Given the description of an element on the screen output the (x, y) to click on. 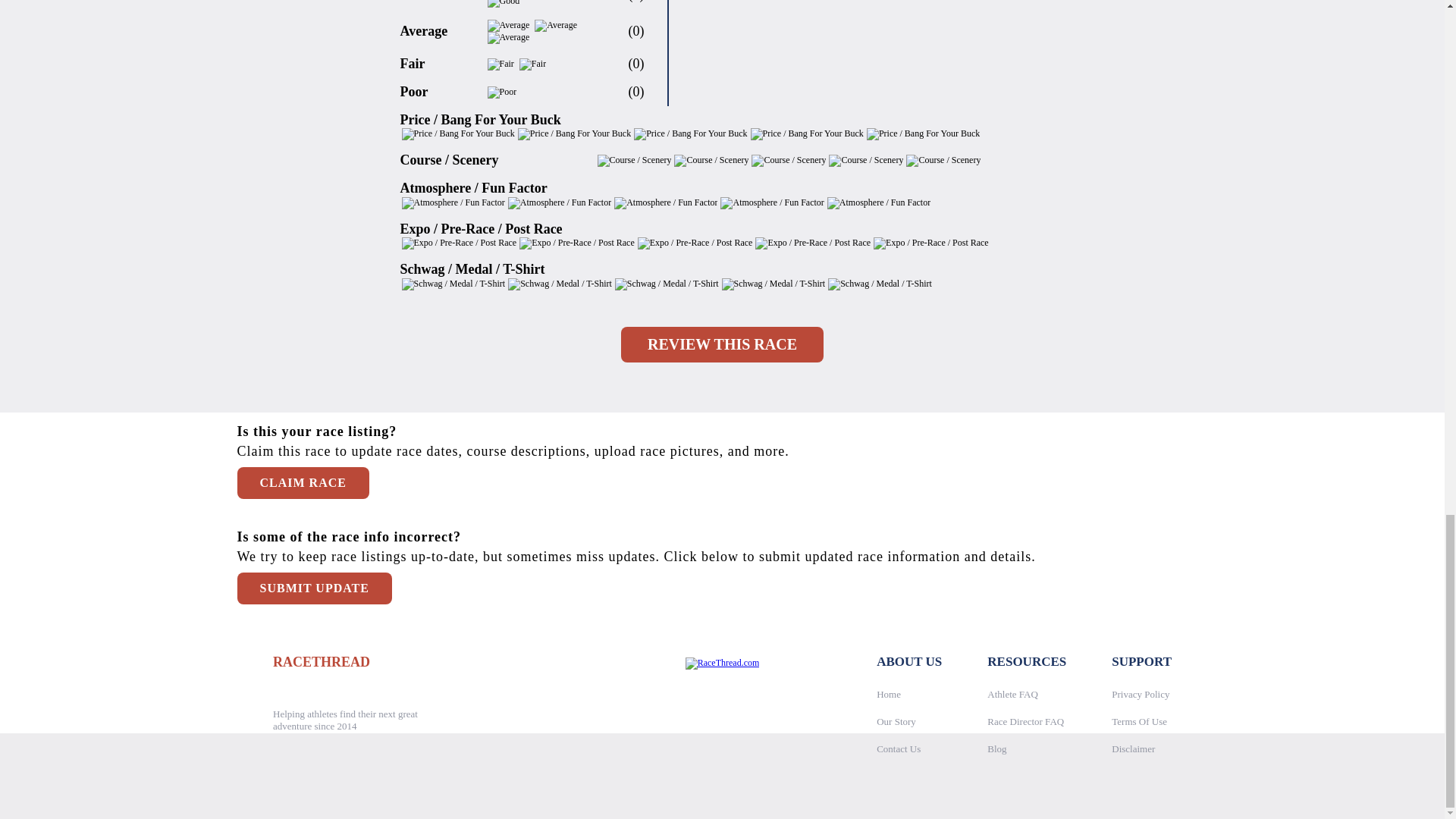
Our Story (895, 721)
Athlete FAQ (1012, 694)
CLAIM RACE (301, 482)
REVIEW THIS RACE (722, 343)
Home (888, 694)
Contact Us (898, 748)
Blog (996, 748)
Race Director FAQ (1025, 721)
SUBMIT UPDATE (313, 587)
Privacy Policy (1140, 694)
